Given the description of an element on the screen output the (x, y) to click on. 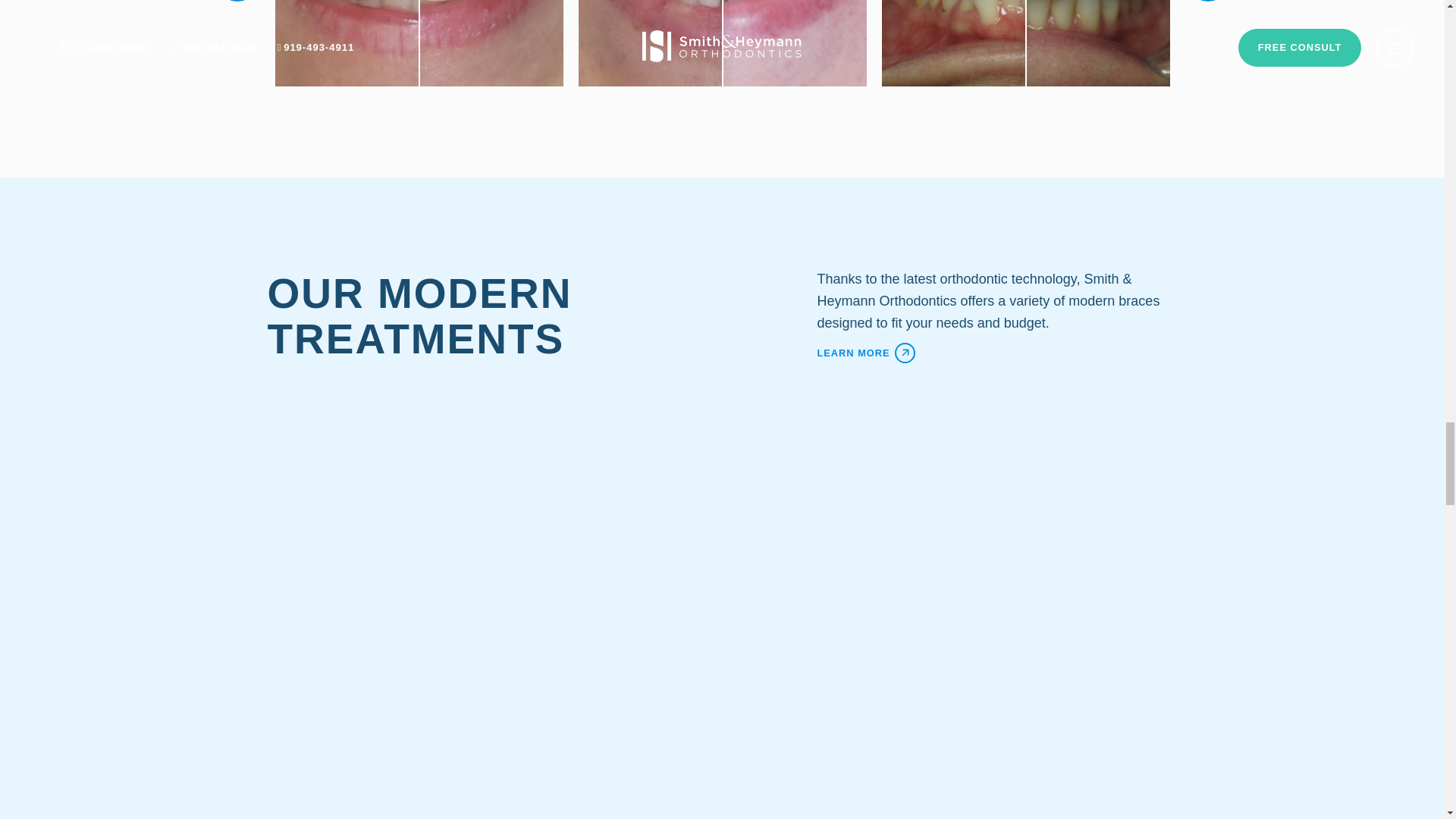
Learn More (996, 352)
